Given the description of an element on the screen output the (x, y) to click on. 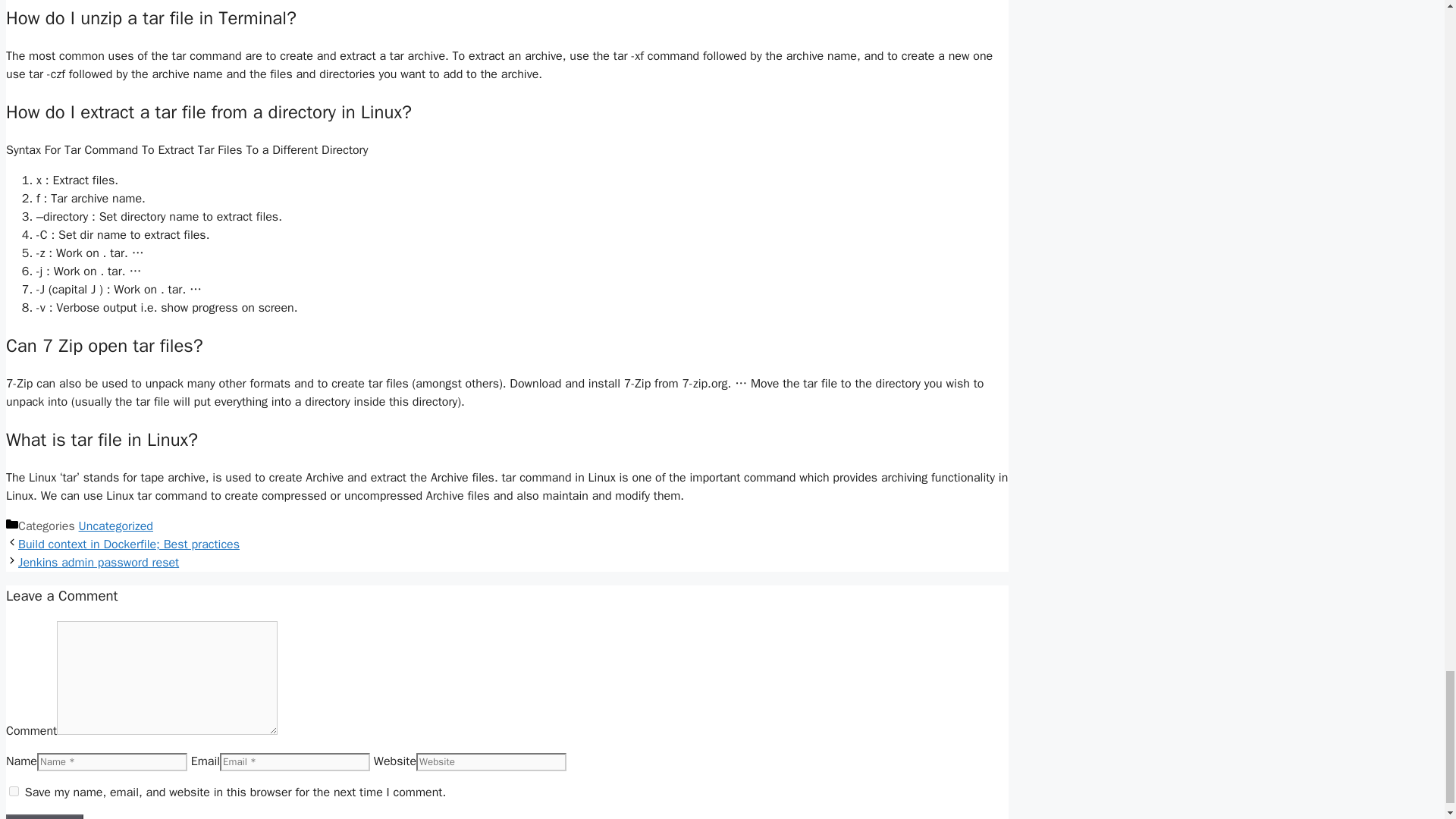
Jenkins admin password reset (98, 562)
Build context in Dockerfile; Best practices (128, 544)
Uncategorized (115, 525)
yes (13, 791)
